Given the description of an element on the screen output the (x, y) to click on. 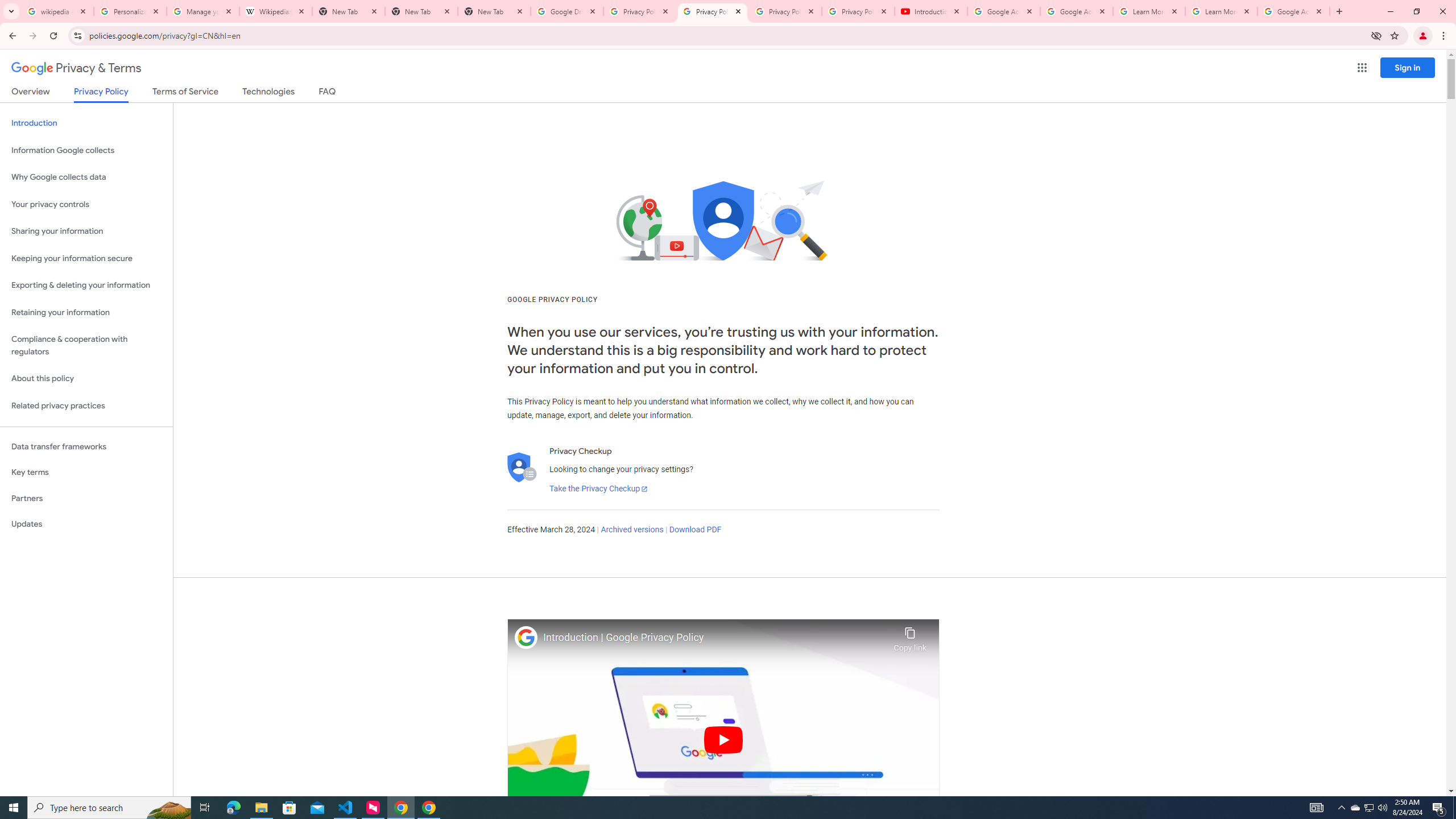
Introduction | Google Privacy Policy - YouTube (930, 11)
New Tab (421, 11)
Photo image of Google (526, 636)
Google Drive: Sign-in (566, 11)
Copy link (909, 636)
Privacy & Terms (76, 68)
